Given the description of an element on the screen output the (x, y) to click on. 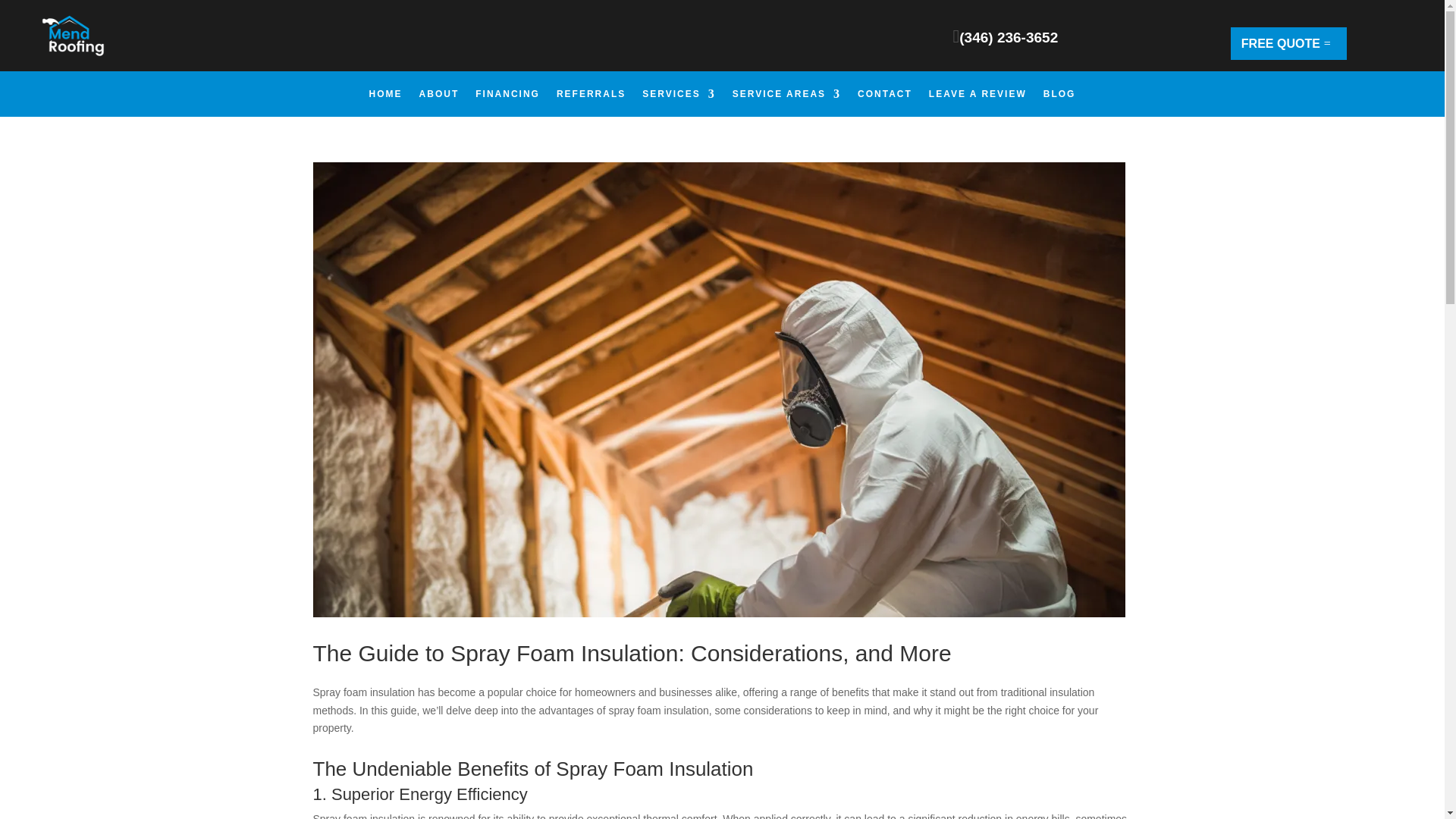
204bdc35-1bef-402a-b9b3-c37e2f53d8b8 (70, 39)
REFERRALS (591, 96)
ABOUT (439, 96)
FREE QUOTE (1288, 43)
HOME (386, 96)
FINANCING (508, 96)
SERVICES (678, 96)
SERVICE AREAS (786, 96)
